Given the description of an element on the screen output the (x, y) to click on. 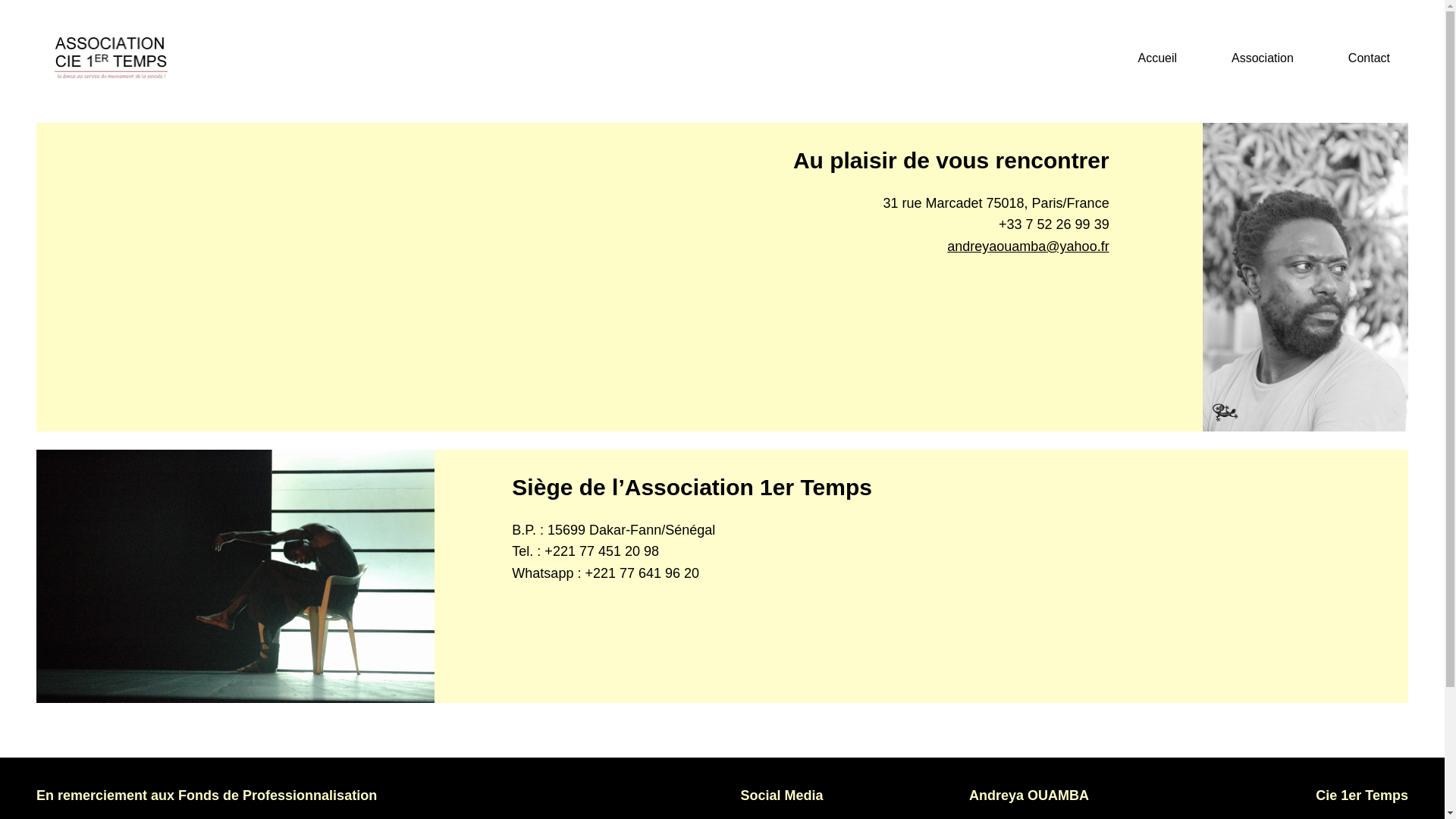
Contact Element type: text (1369, 58)
andreyaouamba@yahoo.fr Element type: text (1027, 246)
Accueil Element type: text (1156, 58)
Association Element type: text (1262, 58)
